Given the description of an element on the screen output the (x, y) to click on. 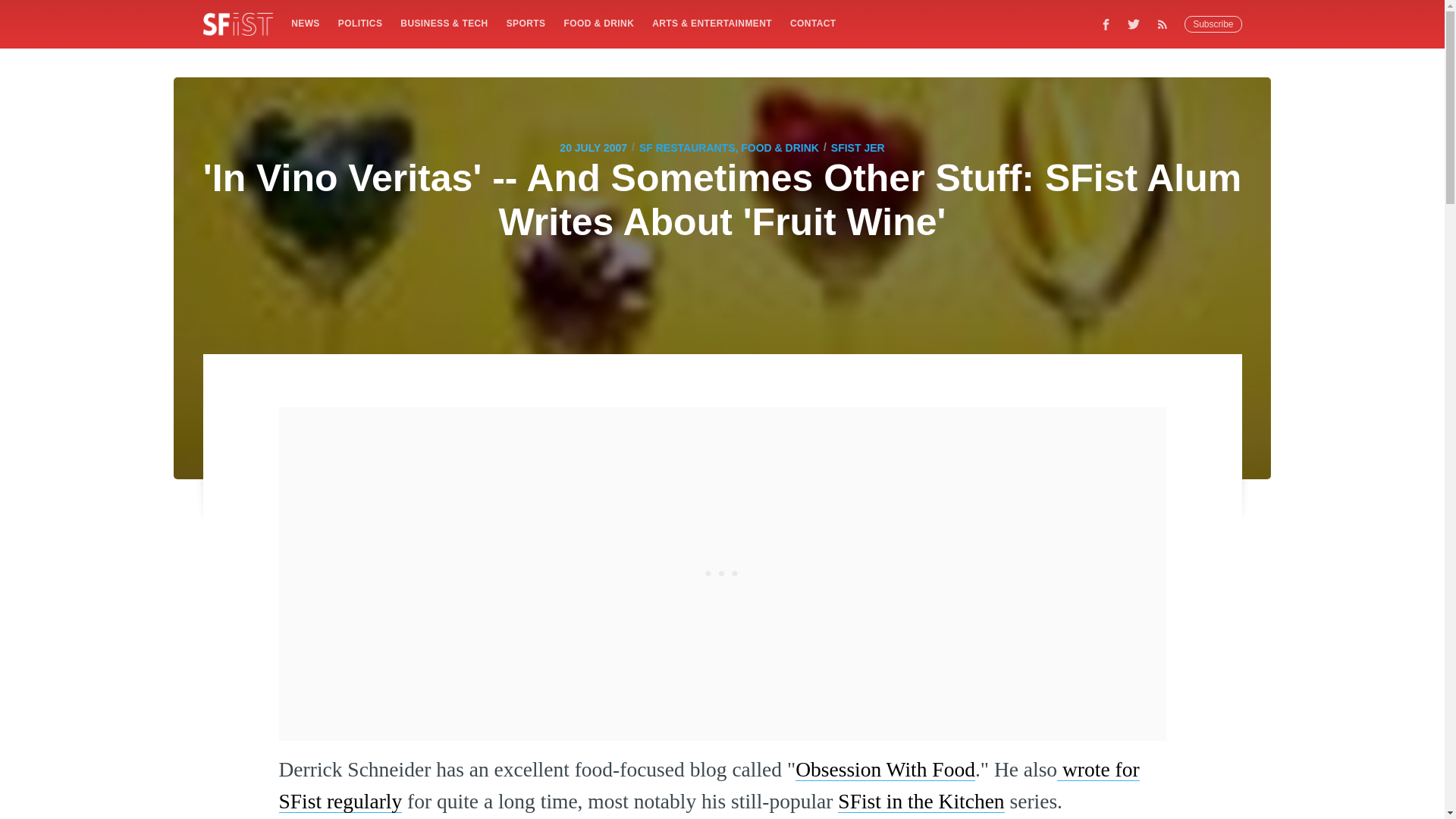
SFIST JER (858, 147)
wrote for SFist regularly (709, 784)
Subscribe (1213, 23)
Obsession With Food (884, 769)
Twitter (1133, 23)
NEWS (305, 23)
Facebook (1106, 23)
POLITICS (360, 23)
SPORTS (525, 23)
CONTACT (812, 23)
RSS (1166, 23)
SFist in the Kitchen (921, 801)
